Given the description of an element on the screen output the (x, y) to click on. 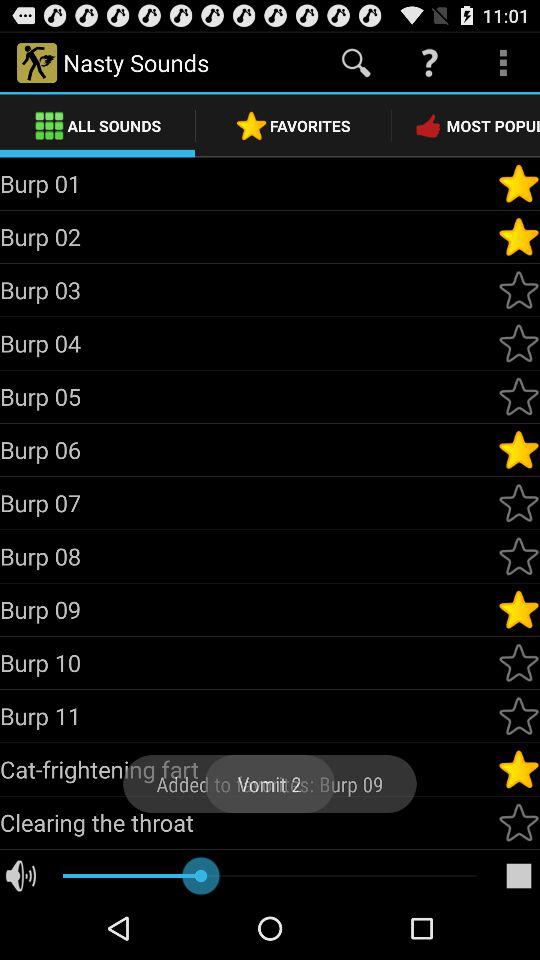
add to favorites (519, 716)
